Given the description of an element on the screen output the (x, y) to click on. 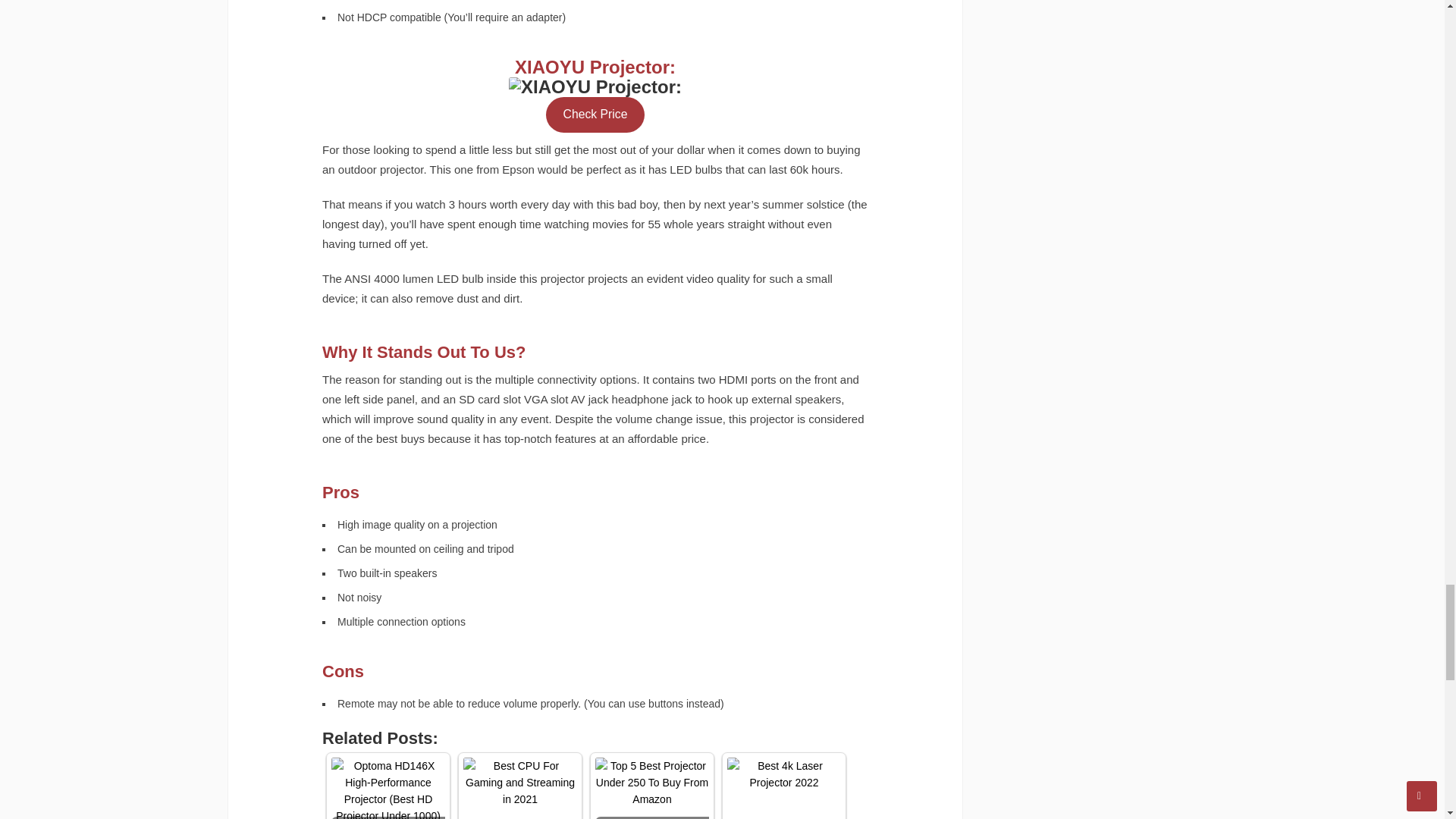
Check Price (595, 114)
Best 4k Laser Projector 2023 - Ultimate Guide (783, 774)
Top 5 Best Projector Under 250 To Buy From Amazon (652, 782)
Best Projector Under 1000 - Complete Buying Guide 2023 (388, 788)
Best CPU For Gaming and Streaming in 2023 (519, 782)
